Given the description of an element on the screen output the (x, y) to click on. 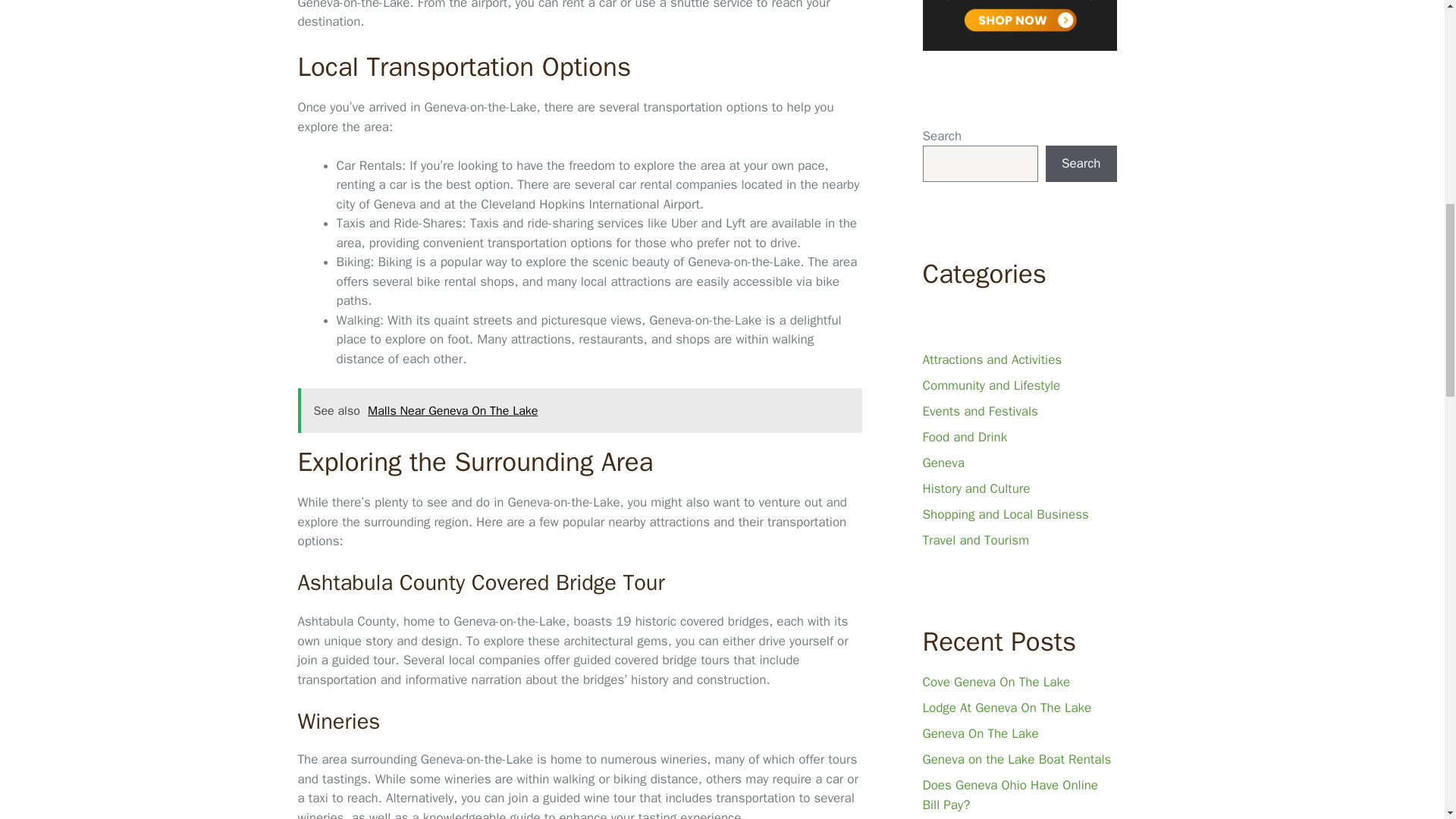
Cove Geneva On The Lake (995, 682)
History and Culture (975, 488)
Does Geneva Ohio Have Online Bill Pay? (1009, 795)
Lodge At Geneva On The Lake (1005, 707)
Geneva (942, 462)
Events and Festivals (978, 411)
Geneva on the Lake Boat Rentals (1015, 759)
See also  Malls Near Geneva On The Lake (579, 411)
Geneva On The Lake (979, 733)
Travel and Tourism (975, 539)
Shopping and Local Business (1004, 514)
Food and Drink (964, 437)
Search (1080, 163)
Attractions and Activities (991, 359)
Community and Lifestyle (990, 385)
